Given the description of an element on the screen output the (x, y) to click on. 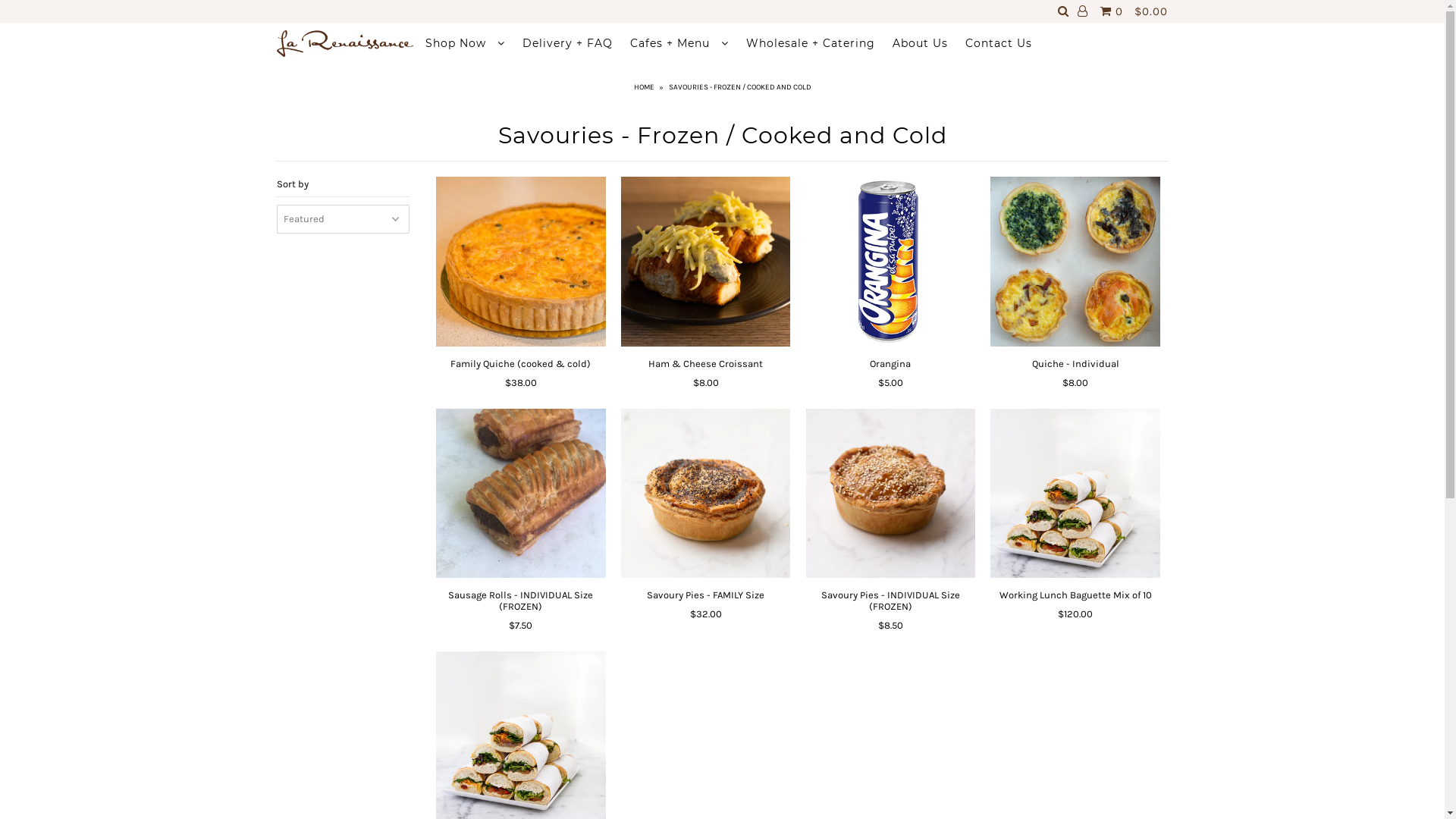
  0   $0.00 Element type: text (1131, 11)
Orangina Element type: hover (890, 260)
Savoury Pies - INDIVIDUAL Size (FROZEN) Element type: hover (890, 492)
Family Quiche (cooked & cold) Element type: text (520, 363)
Orangina Element type: text (890, 363)
About Us Element type: text (919, 43)
Delivery + FAQ Element type: text (567, 43)
Shop Now Element type: text (464, 43)
Sausage Rolls - INDIVIDUAL Size (FROZEN) Element type: text (520, 600)
Wholesale + Catering Element type: text (810, 43)
Savoury Pies - FAMILY Size Element type: text (705, 594)
Savoury Pies - INDIVIDUAL Size (FROZEN) Element type: text (890, 600)
Sausage Rolls - INDIVIDUAL Size (FROZEN) Element type: hover (520, 492)
Cafes + Menu Element type: text (679, 43)
Savoury Pies - FAMILY Size Element type: hover (705, 492)
Ham & Cheese Croissant Element type: hover (705, 260)
Working Lunch Baguette Mix of 10 Element type: text (1074, 594)
Quiche - Individual Element type: text (1074, 363)
HOME Element type: text (645, 86)
Quiche - Individual Element type: hover (1074, 260)
Contact Us Element type: text (998, 43)
Family Quiche (cooked & cold) Element type: hover (520, 260)
Working Lunch Baguette Mix of 10 Element type: hover (1074, 492)
Ham & Cheese Croissant Element type: text (705, 363)
